Given the description of an element on the screen output the (x, y) to click on. 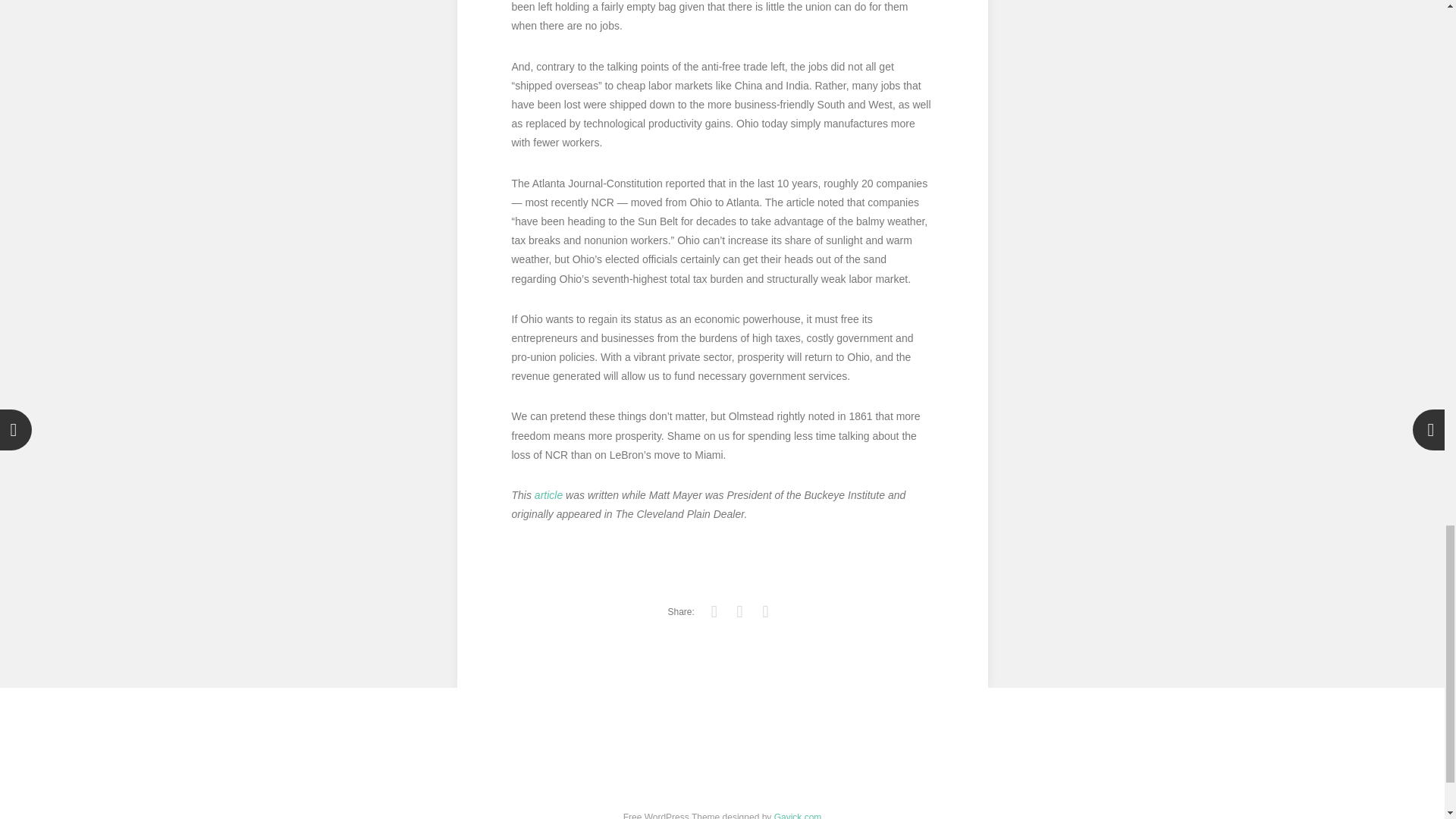
Facebook (740, 611)
Gavick.com (798, 815)
Twitter (714, 611)
article (548, 494)
